Given the description of an element on the screen output the (x, y) to click on. 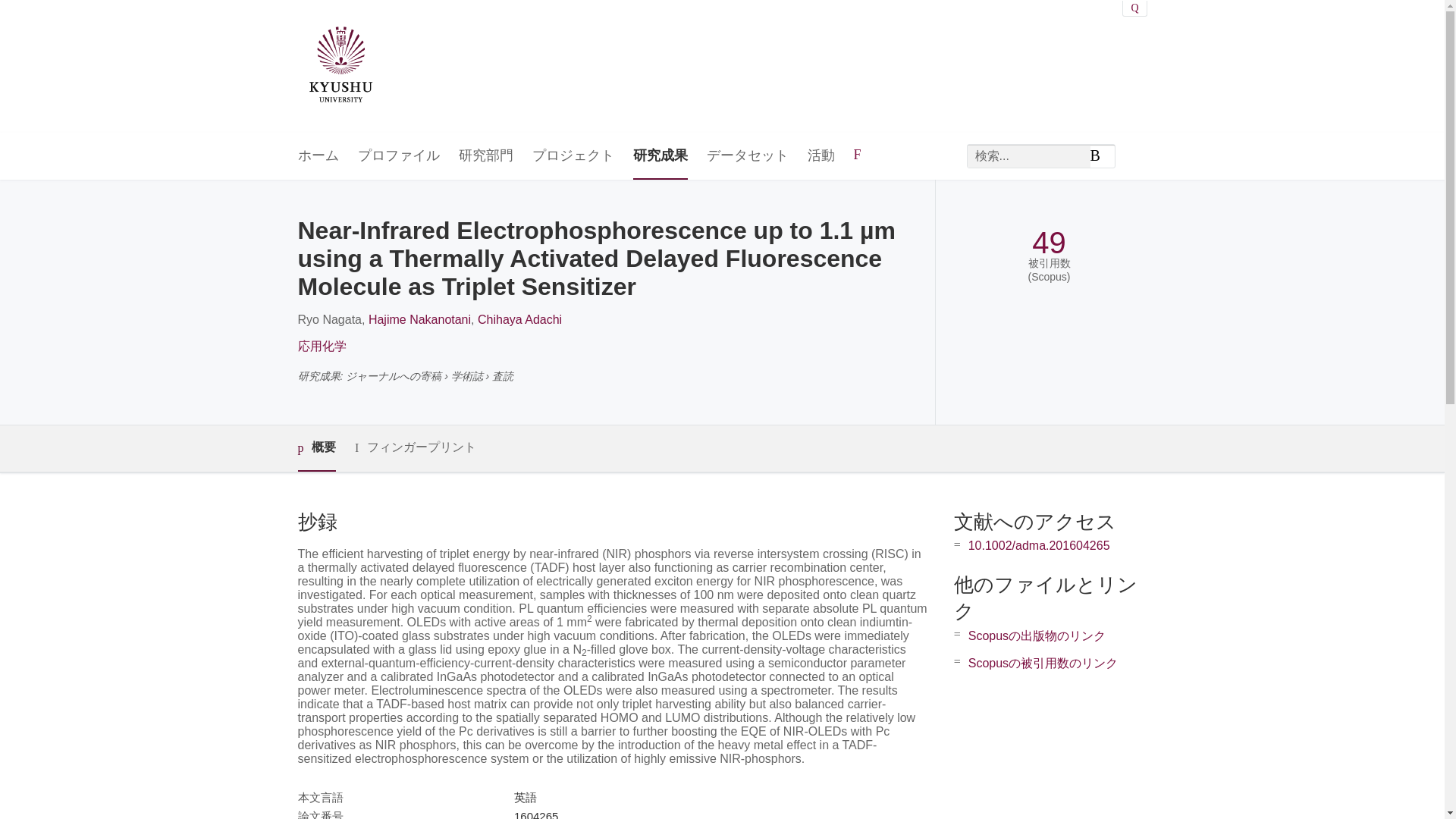
Hajime Nakanotani (419, 318)
Chihaya Adachi (519, 318)
49 (1048, 243)
